Given the description of an element on the screen output the (x, y) to click on. 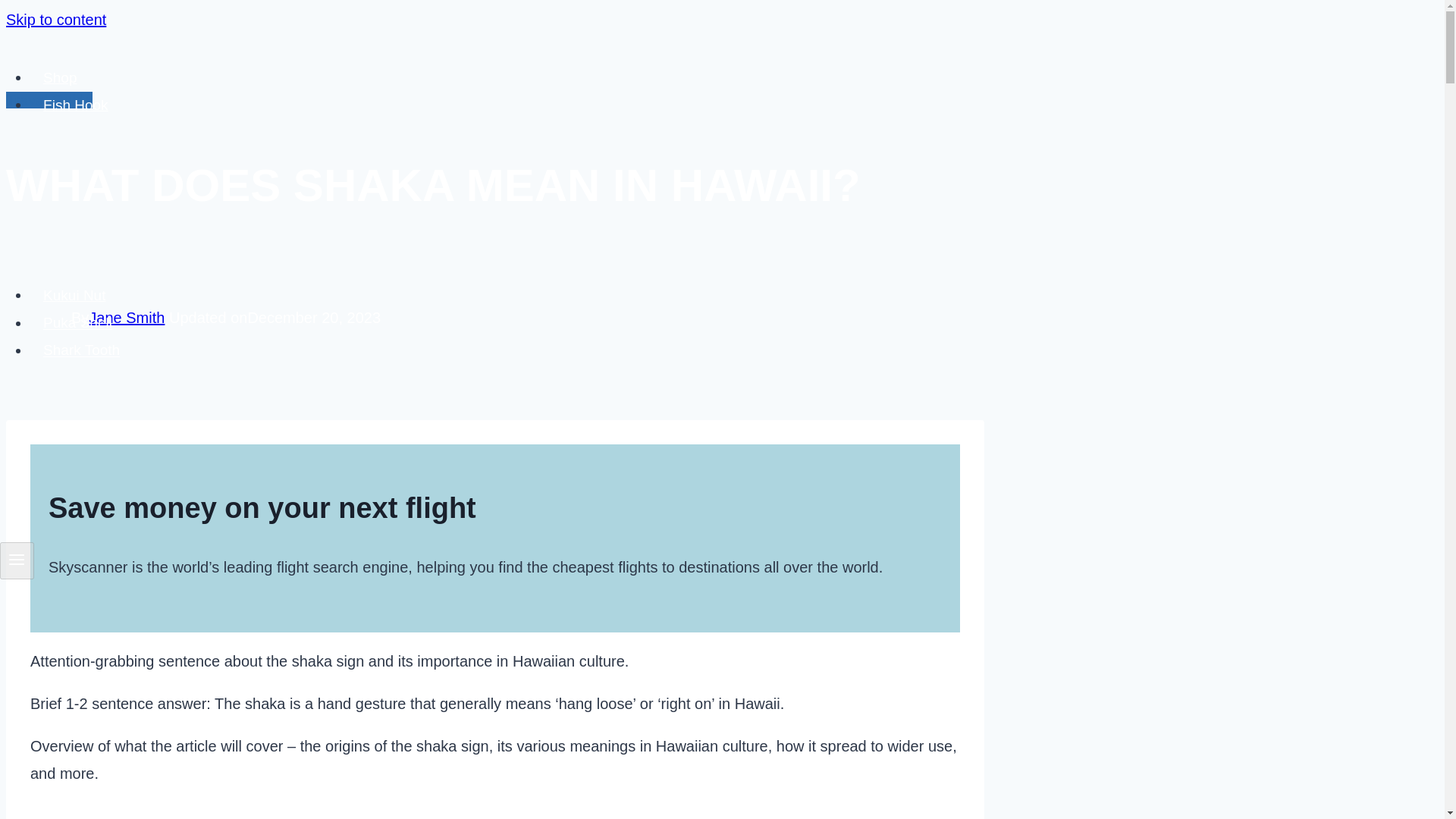
Skip to content (55, 19)
Puka Shell (77, 322)
Travel Guide (49, 99)
Toggle Menu (16, 559)
Shop (60, 77)
Fish Hook (75, 105)
Shark Tooth (81, 349)
Toggle Menu (16, 560)
Jane Smith (126, 317)
Kukui Nut (74, 295)
Skip to content (55, 19)
